Given the description of an element on the screen output the (x, y) to click on. 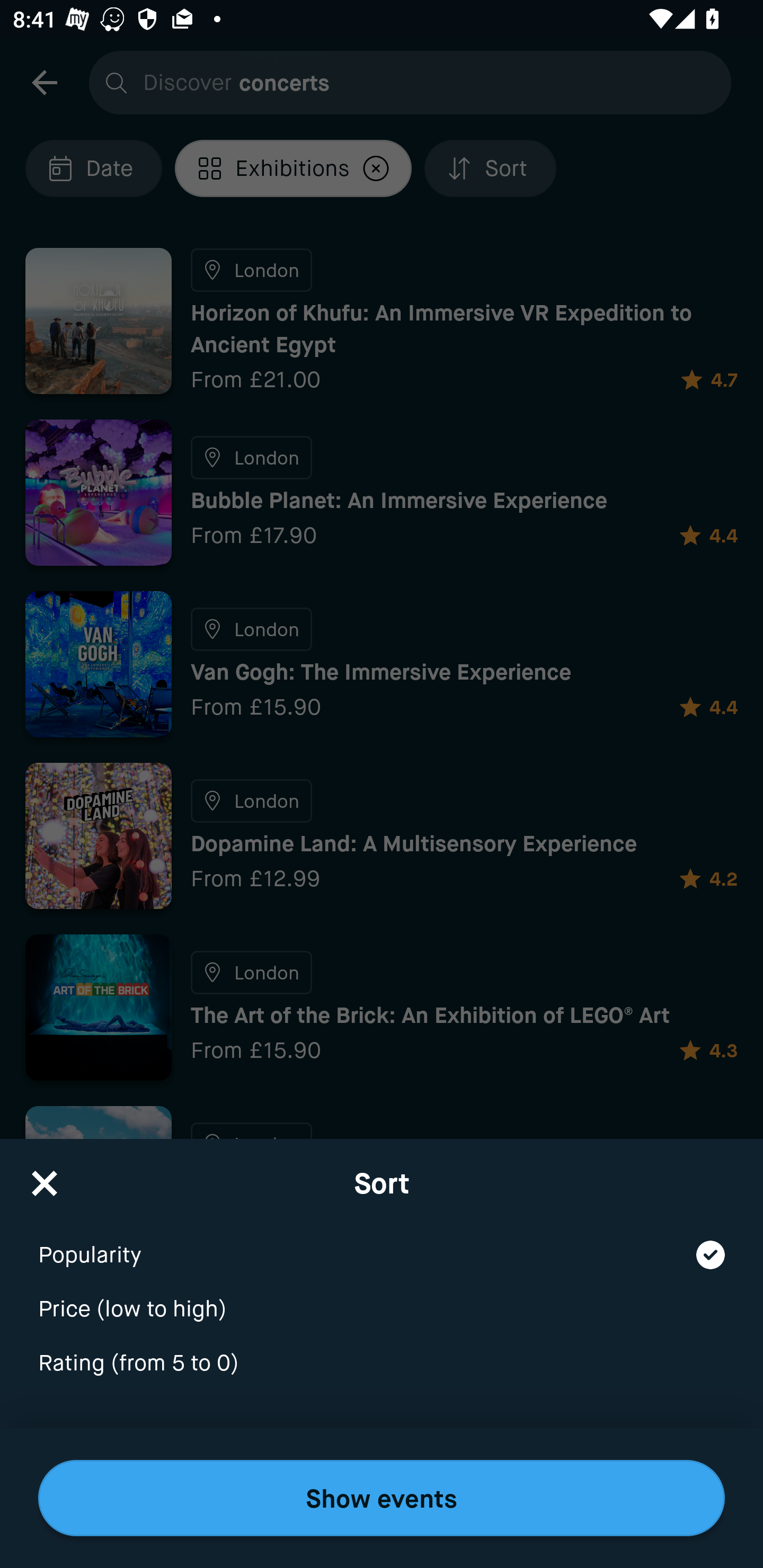
CloseButton (44, 1177)
Popularity Selected Icon (381, 1243)
Price (low to high) (381, 1297)
Rating (from 5 to 0) (381, 1362)
Show events (381, 1497)
